Given the description of an element on the screen output the (x, y) to click on. 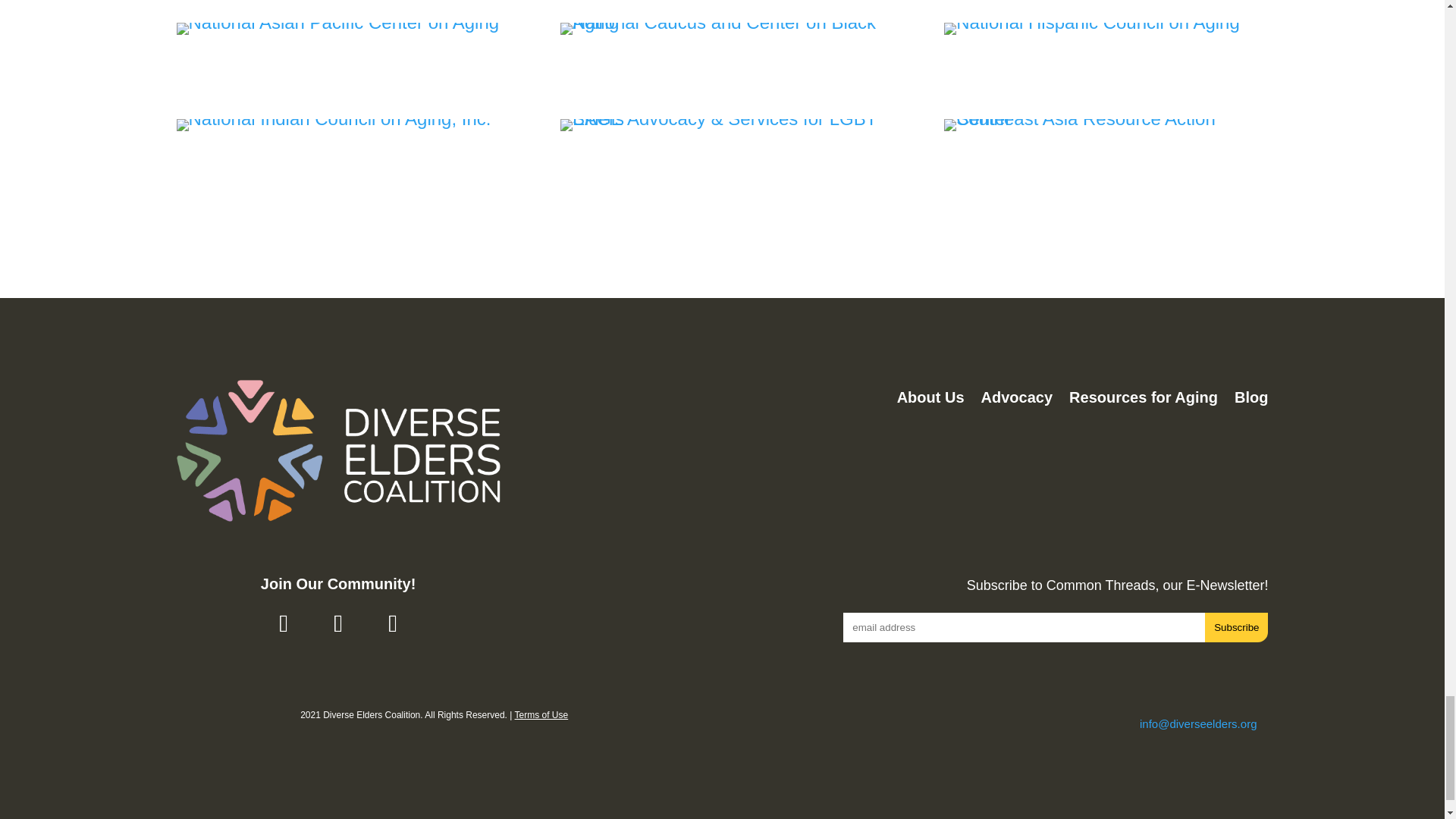
Follow on LinkedIn (392, 622)
Subscribe (1236, 627)
Follow on X (338, 622)
Follow on Facebook (283, 622)
